Given the description of an element on the screen output the (x, y) to click on. 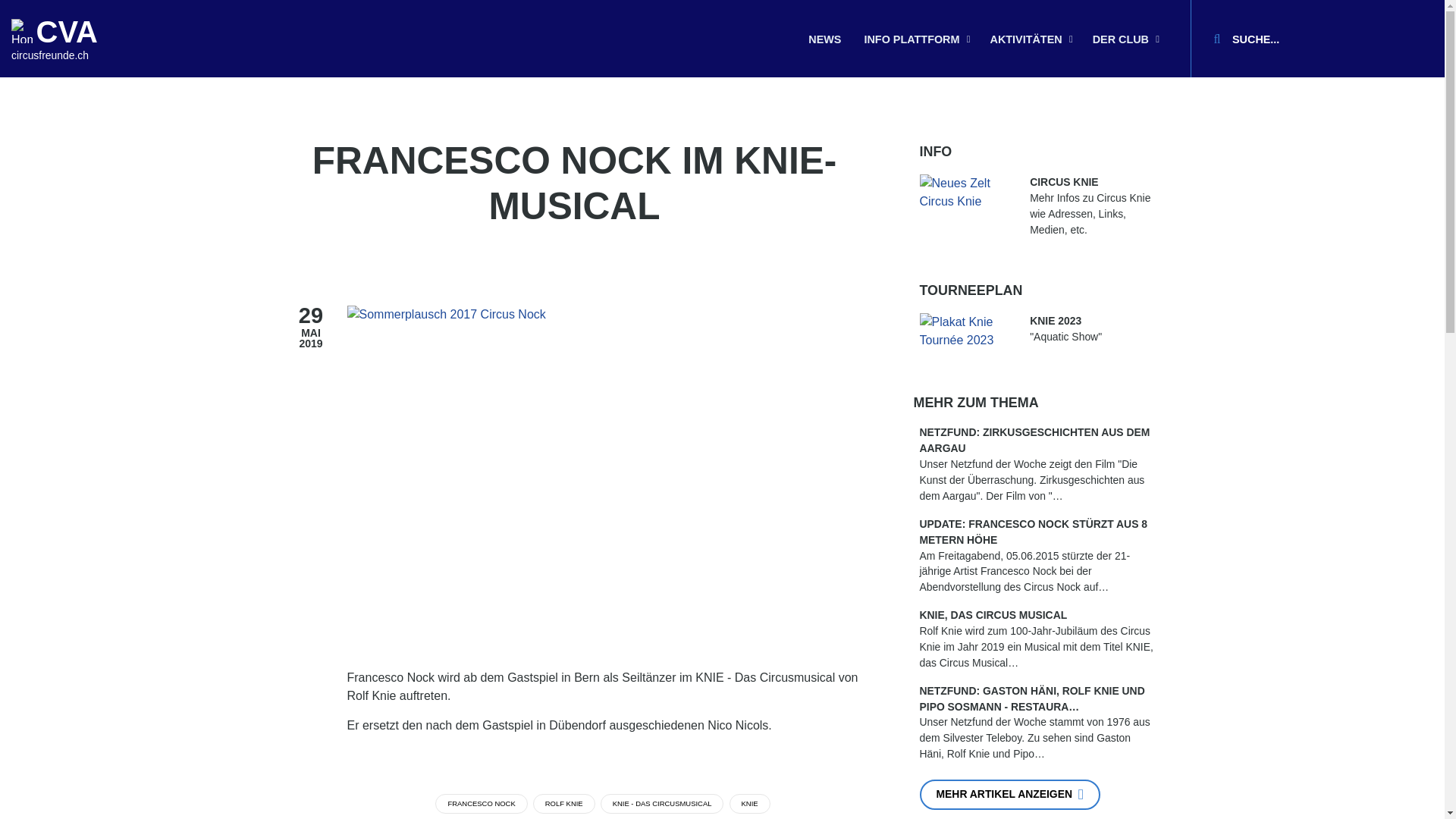
NETZFUND: ZIRKUSGESCHICHTEN AUS DEM AARGAU Element type: text (1036, 440)
KNIE, DAS CIRCUS MUSICAL Element type: text (1036, 615)
CIRCUS KNIE Element type: text (1091, 182)
Home Element type: hover (21, 30)
CVA Element type: text (66, 31)
KNIE - DAS CIRCUSMUSICAL Element type: text (662, 802)
ROLF KNIE Element type: text (564, 802)
FRANCESCO NOCK Element type: text (481, 802)
DER CLUB Element type: text (1124, 41)
Direkt zum Inhalt Element type: text (0, 0)
Bild Element type: text (966, 331)
INFO PLATTFORM Element type: text (915, 41)
Search Element type: text (1216, 39)
Bild Element type: text (966, 192)
KNIE Element type: text (749, 802)
MEHR ARTIKEL ANZEIGEN Element type: text (1009, 794)
KNIE 2023 Element type: text (1091, 321)
NEWS Element type: text (824, 41)
